Given the description of an element on the screen output the (x, y) to click on. 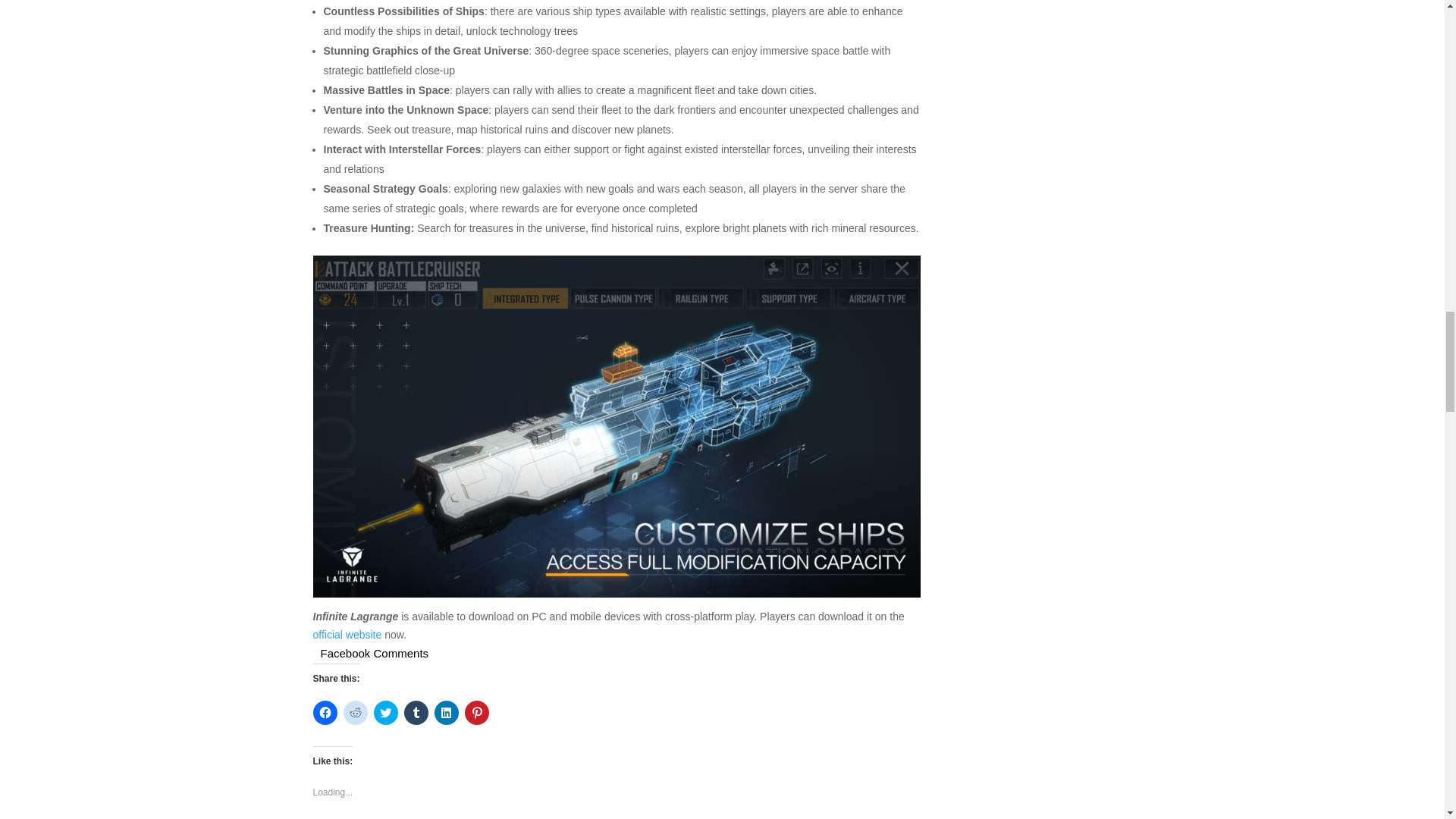
Click to share on Facebook (324, 712)
official website (347, 634)
Click to share on Twitter (384, 712)
Click to share on Tumblr (415, 712)
Click to share on Reddit (354, 712)
Click to share on Pinterest (475, 712)
Click to share on LinkedIn (445, 712)
